Given the description of an element on the screen output the (x, y) to click on. 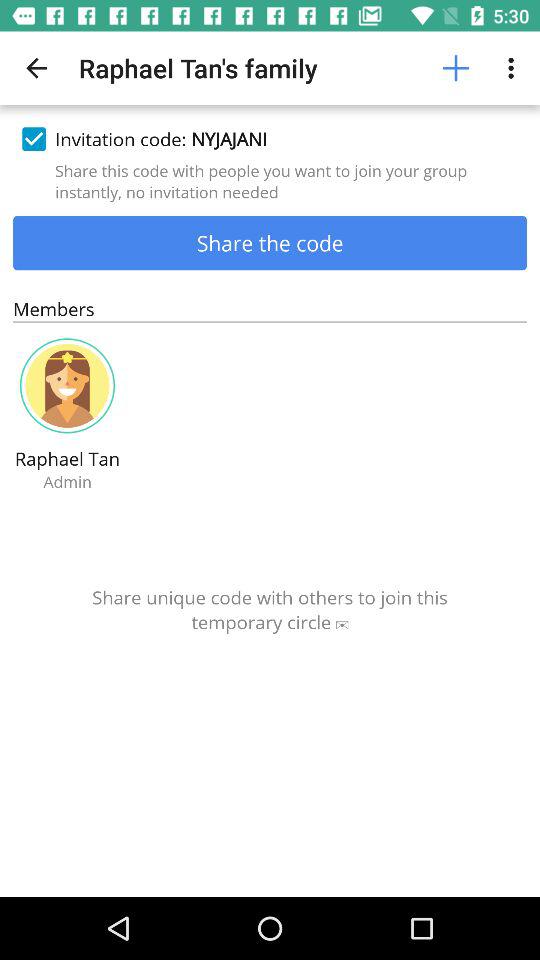
tap icon to the right of the raphael tan s item (455, 67)
